Given the description of an element on the screen output the (x, y) to click on. 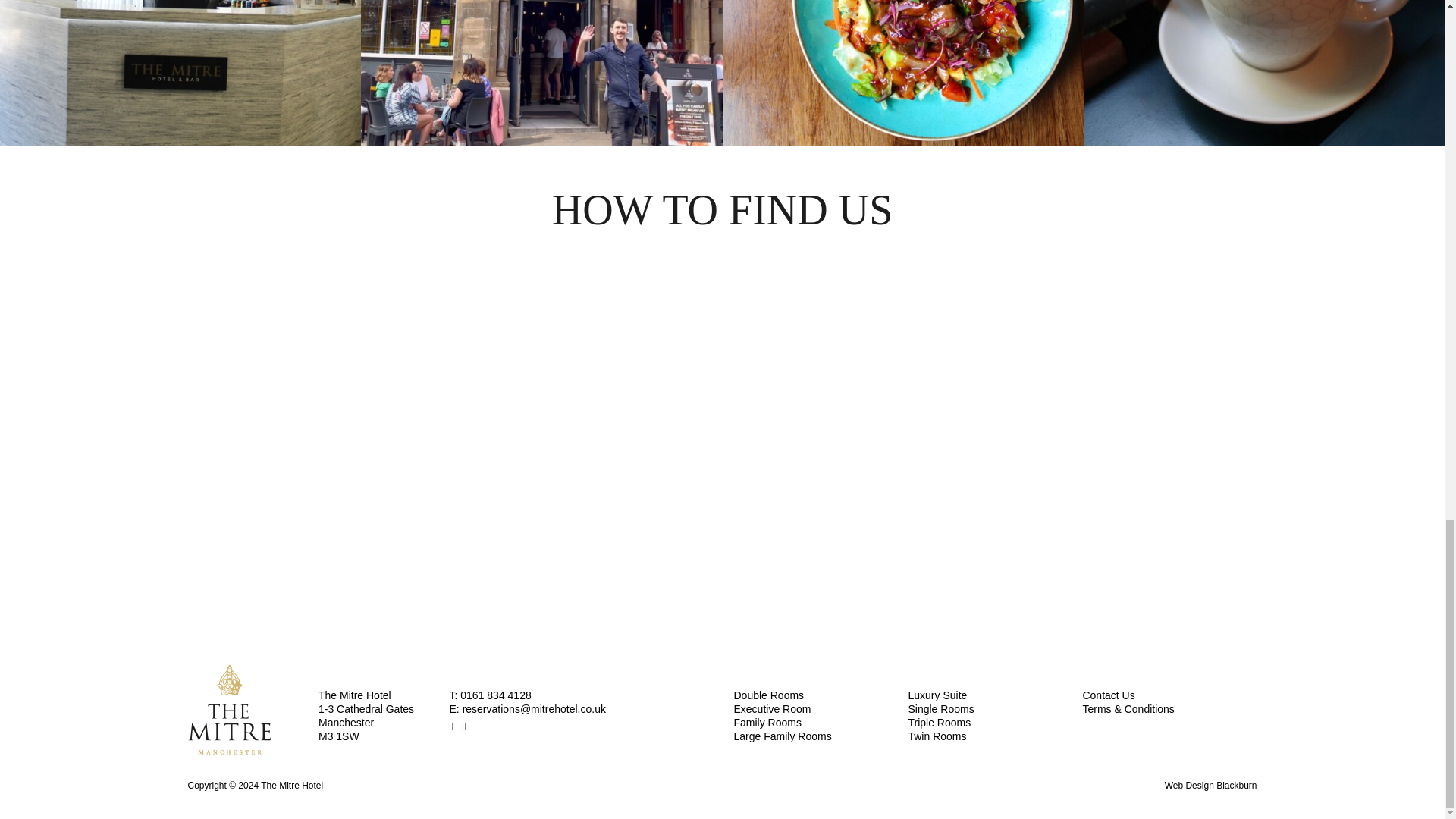
Contact Us (1107, 695)
Triple Rooms (939, 722)
Large Family Rooms (782, 736)
Luxury Suite (936, 695)
Executive Room (771, 708)
Double Rooms (769, 695)
Single Rooms (940, 708)
Family Rooms (767, 722)
Twin Rooms (936, 736)
Web Design Blackburn (1210, 785)
0161 834 4128 (495, 695)
